Given the description of an element on the screen output the (x, y) to click on. 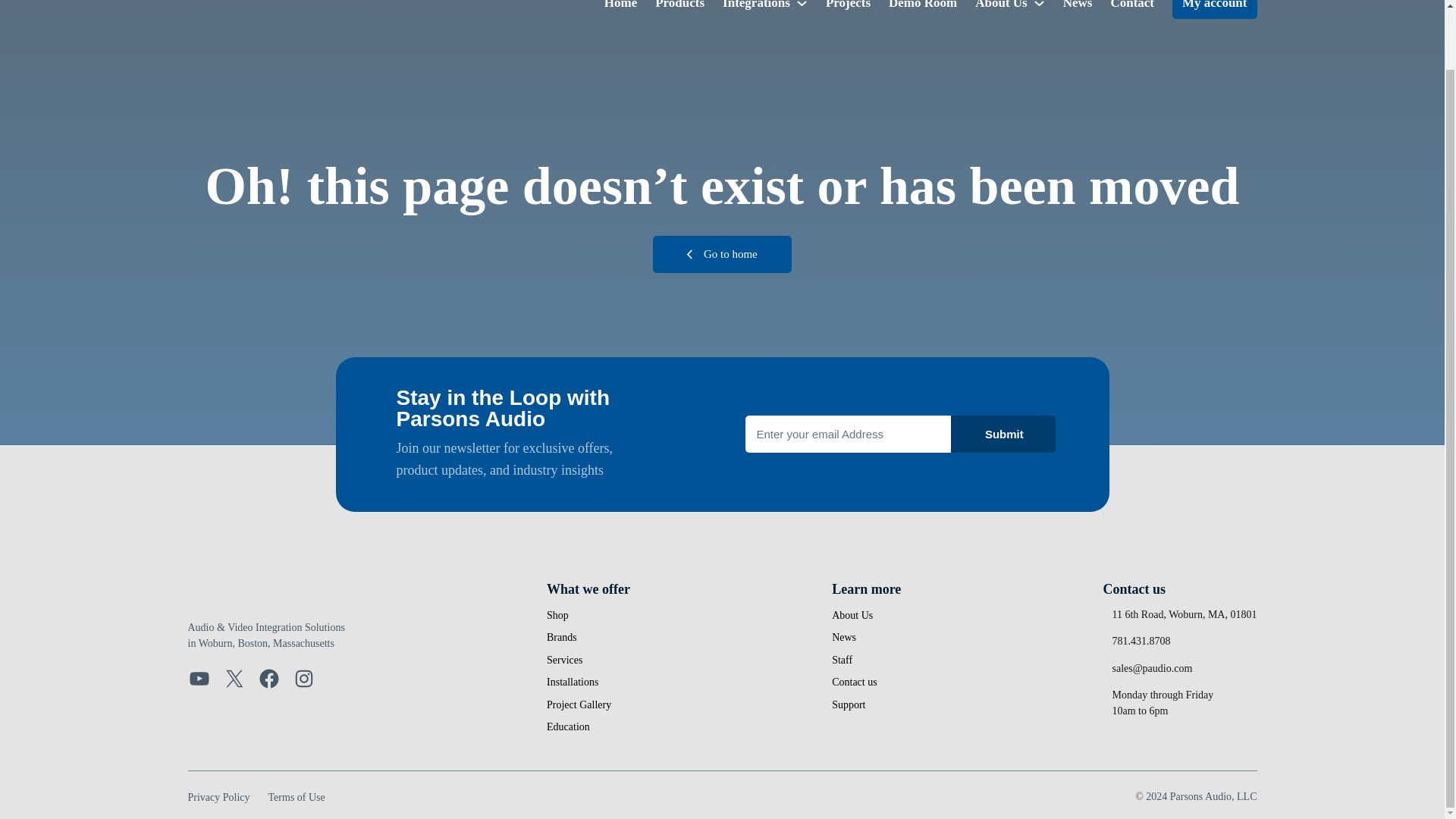
Integrations (756, 6)
Products (679, 6)
Home (620, 6)
About Us (1001, 6)
My account (1214, 9)
News (1077, 6)
Projects (847, 6)
Go to home (722, 253)
Demo Room (922, 6)
Contact (1131, 6)
